Given the description of an element on the screen output the (x, y) to click on. 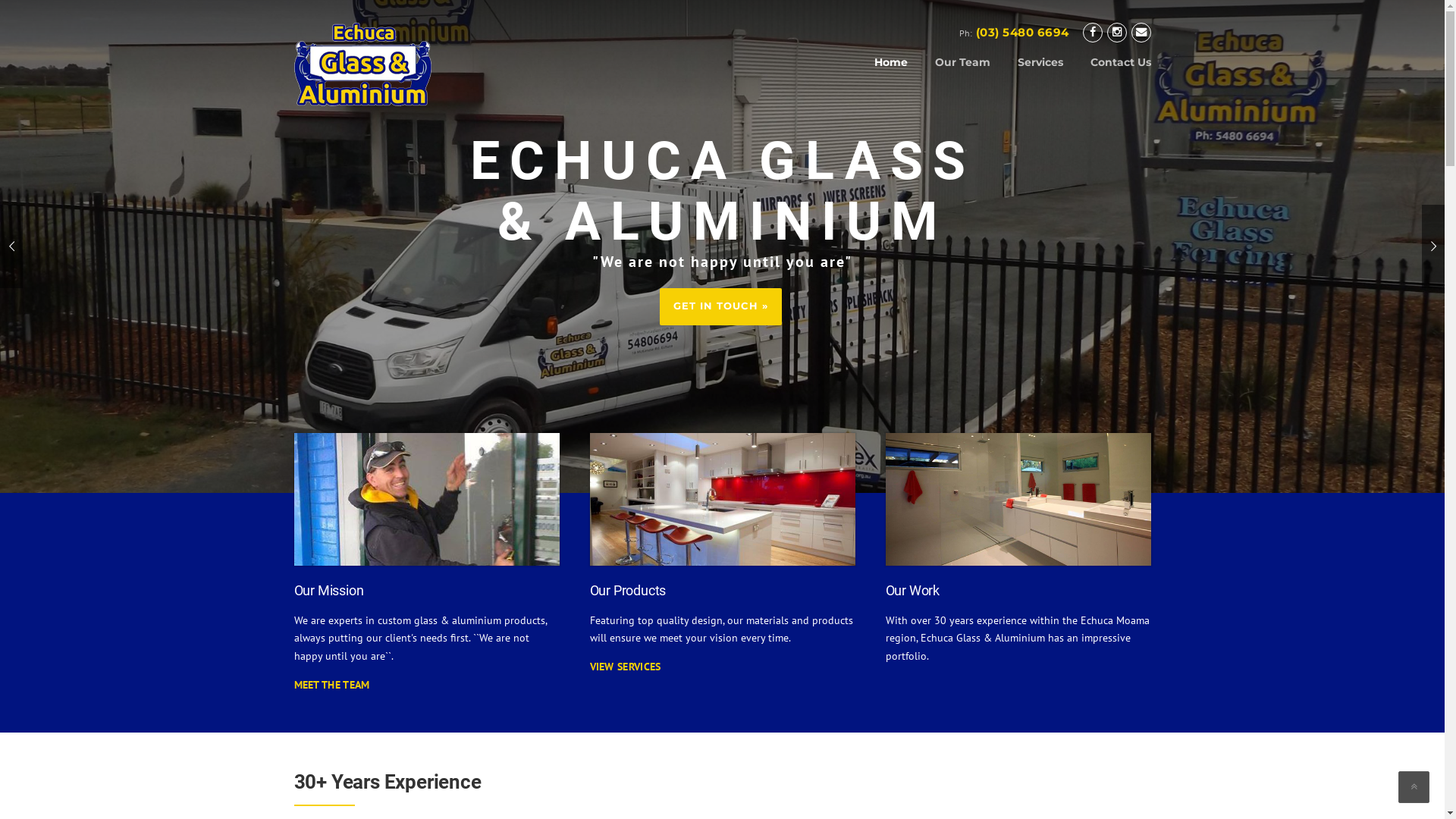
Email Element type: hover (1141, 31)
Instagram Element type: hover (1116, 31)
Facebook Element type: hover (1092, 31)
MEET THE TEAM Element type: text (332, 684)
Our Team Element type: text (961, 73)
(03) 5480 6694 Element type: text (1022, 32)
Echuca Glass & Aluminium Element type: hover (362, 62)
VIEW SERVICES Element type: text (625, 666)
Contact Us Element type: text (1113, 73)
Home Element type: text (889, 73)
Services Element type: text (1040, 73)
